Given the description of an element on the screen output the (x, y) to click on. 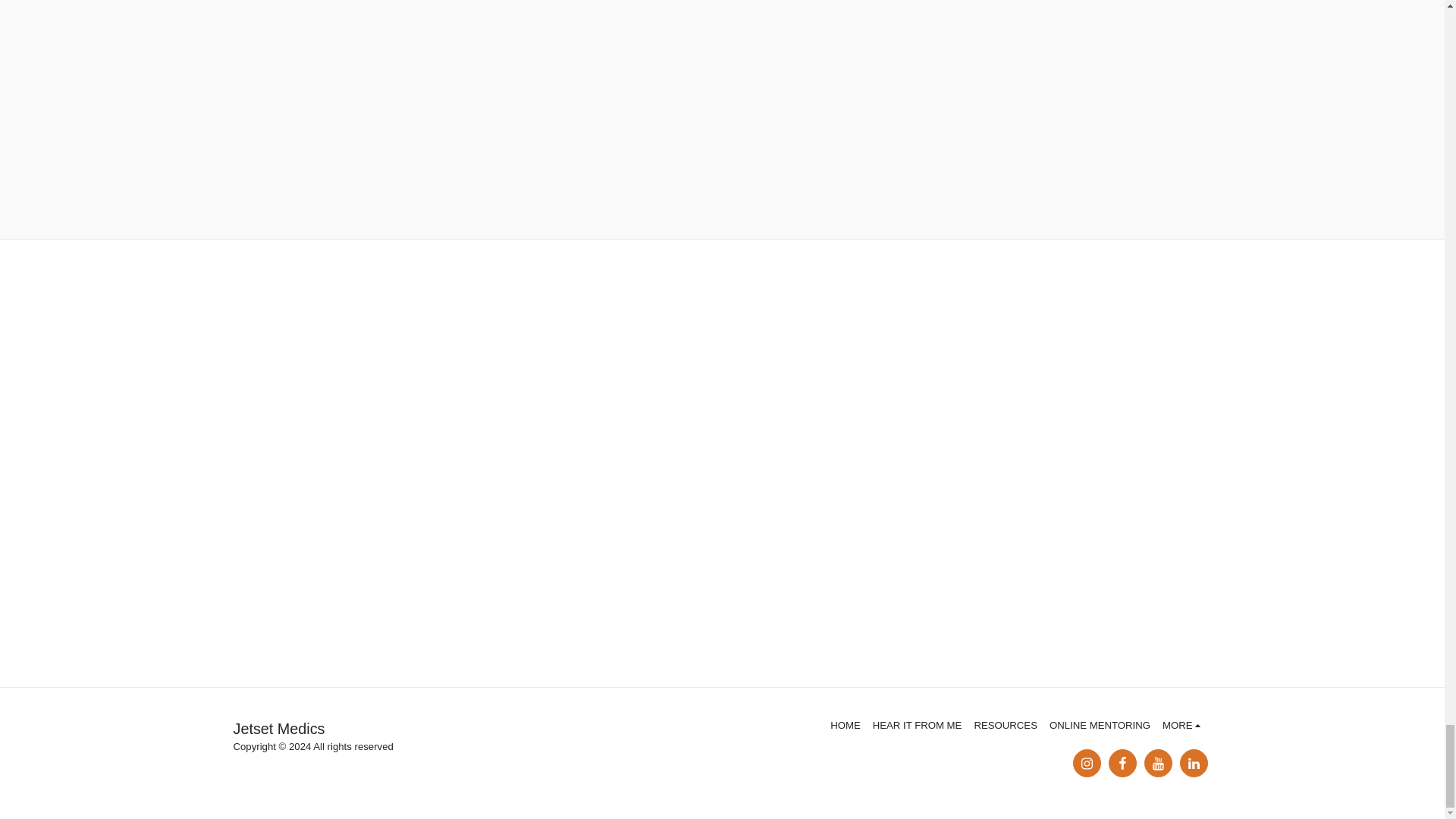
ONLINE MENTORING (1099, 725)
RESOURCES (1005, 725)
HOME (844, 725)
HEAR IT FROM ME (917, 725)
